Given the description of an element on the screen output the (x, y) to click on. 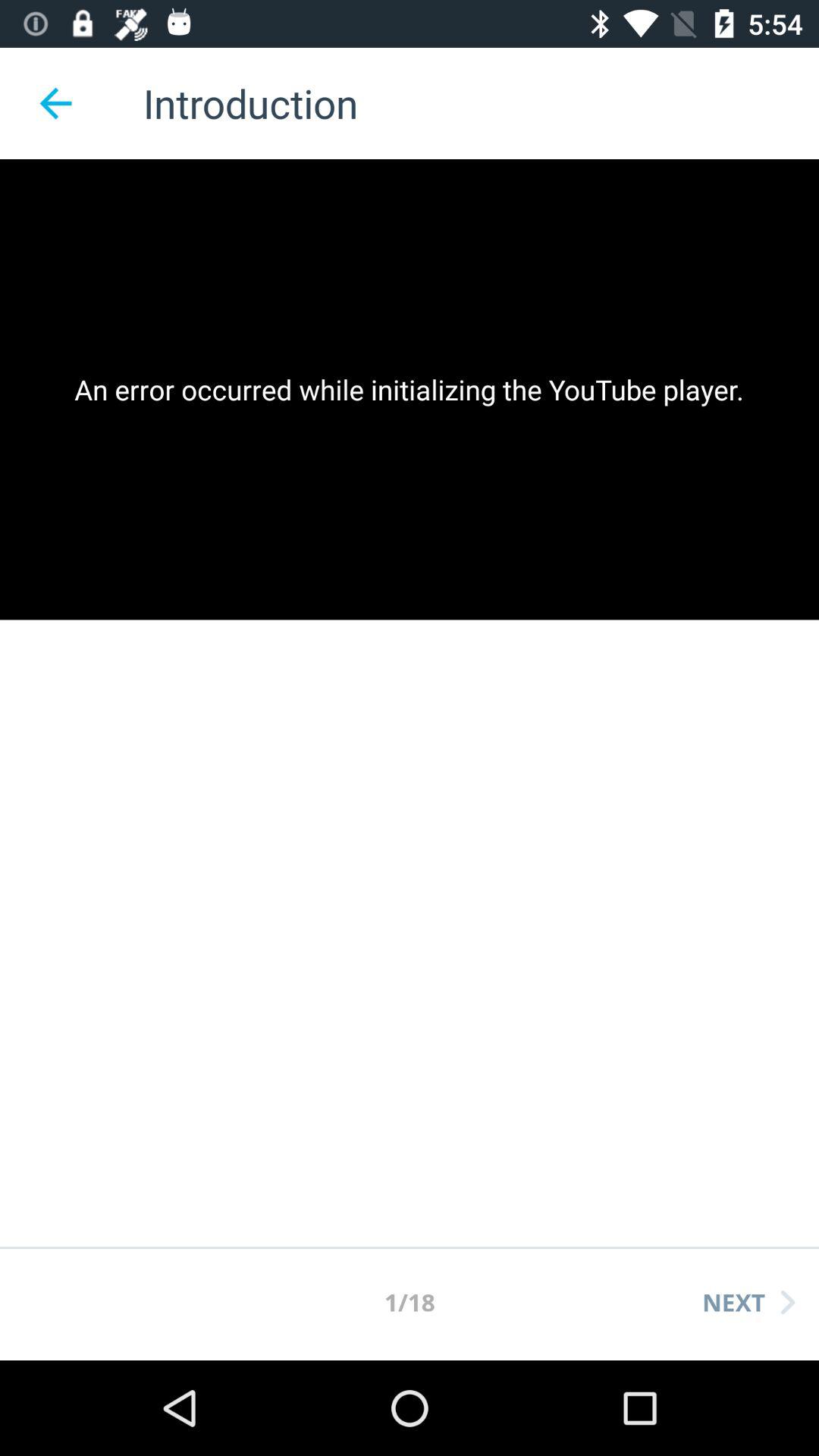
jump until the next icon (748, 1302)
